Given the description of an element on the screen output the (x, y) to click on. 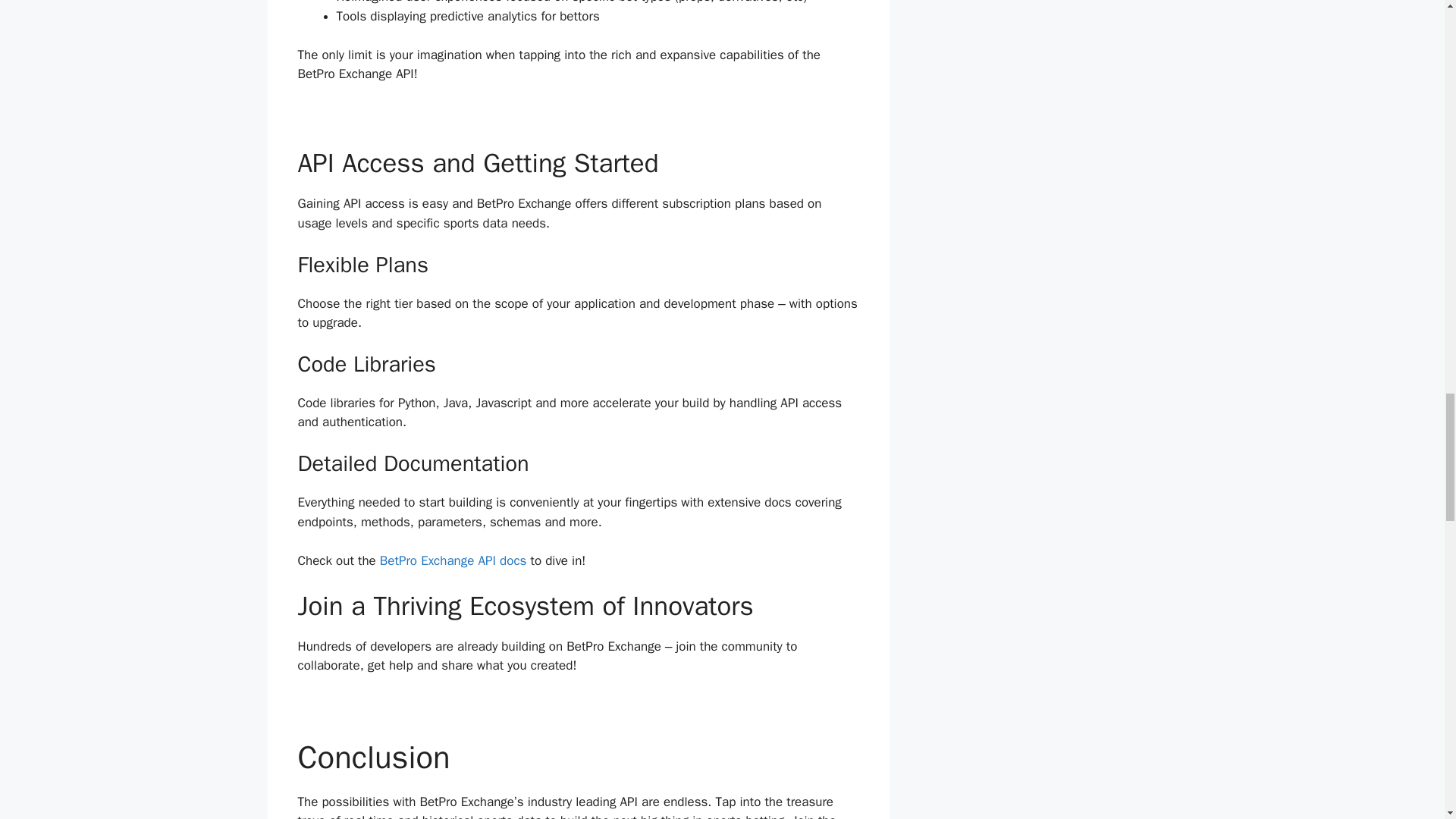
BetPro Exchange API docs (453, 560)
